Given the description of an element on the screen output the (x, y) to click on. 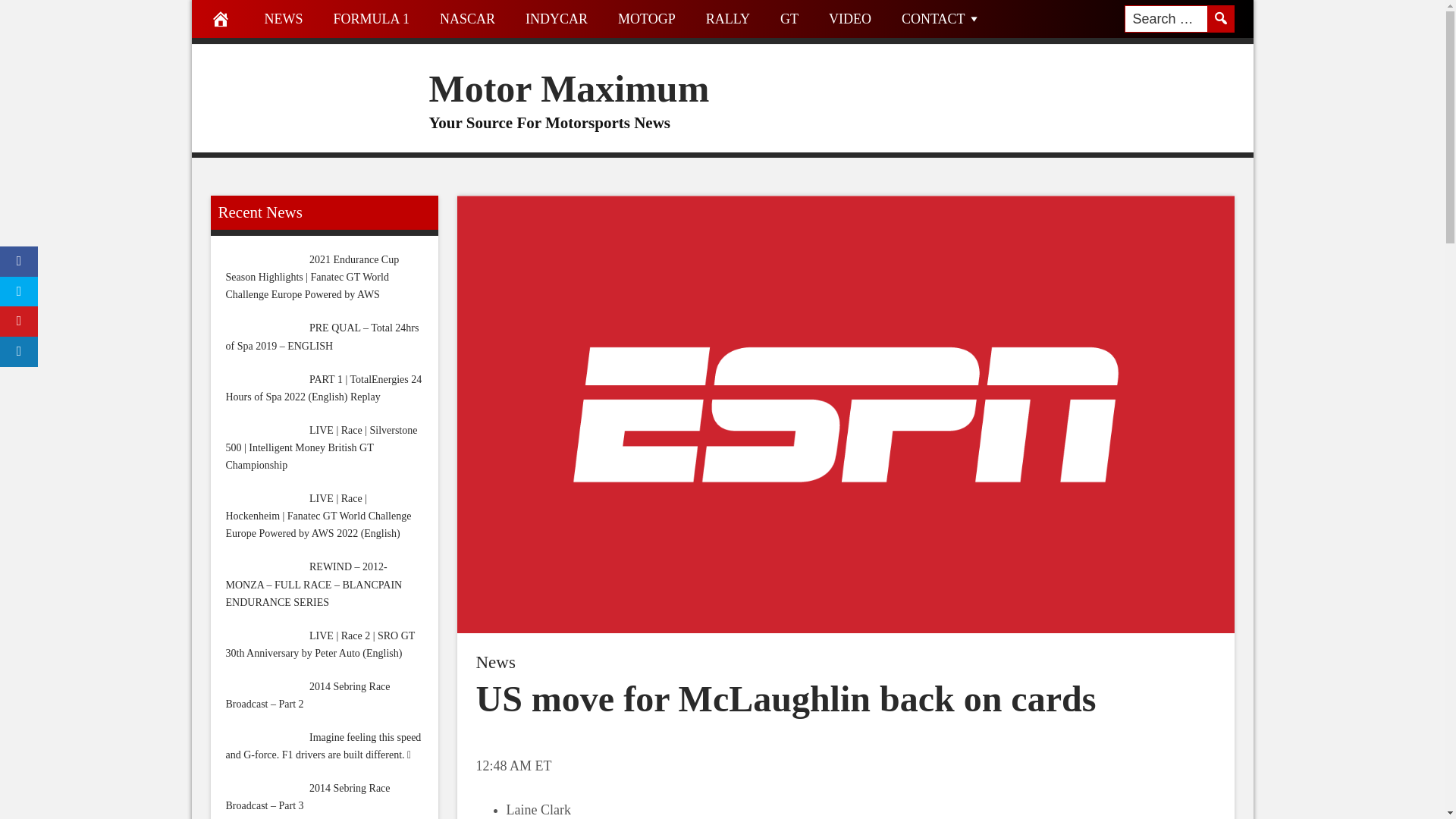
NEWS (282, 18)
NEWS FORMULA 1 NASCAR INDYCAR MOTOGP RALLY GT VIDEO CONTACT (721, 22)
VIDEO (849, 18)
FORMULA 1 (371, 18)
NASCAR (468, 18)
RALLY (727, 18)
INDYCAR (556, 18)
News (495, 661)
MOTOGP (646, 18)
Motor Maximum (569, 88)
